Given the description of an element on the screen output the (x, y) to click on. 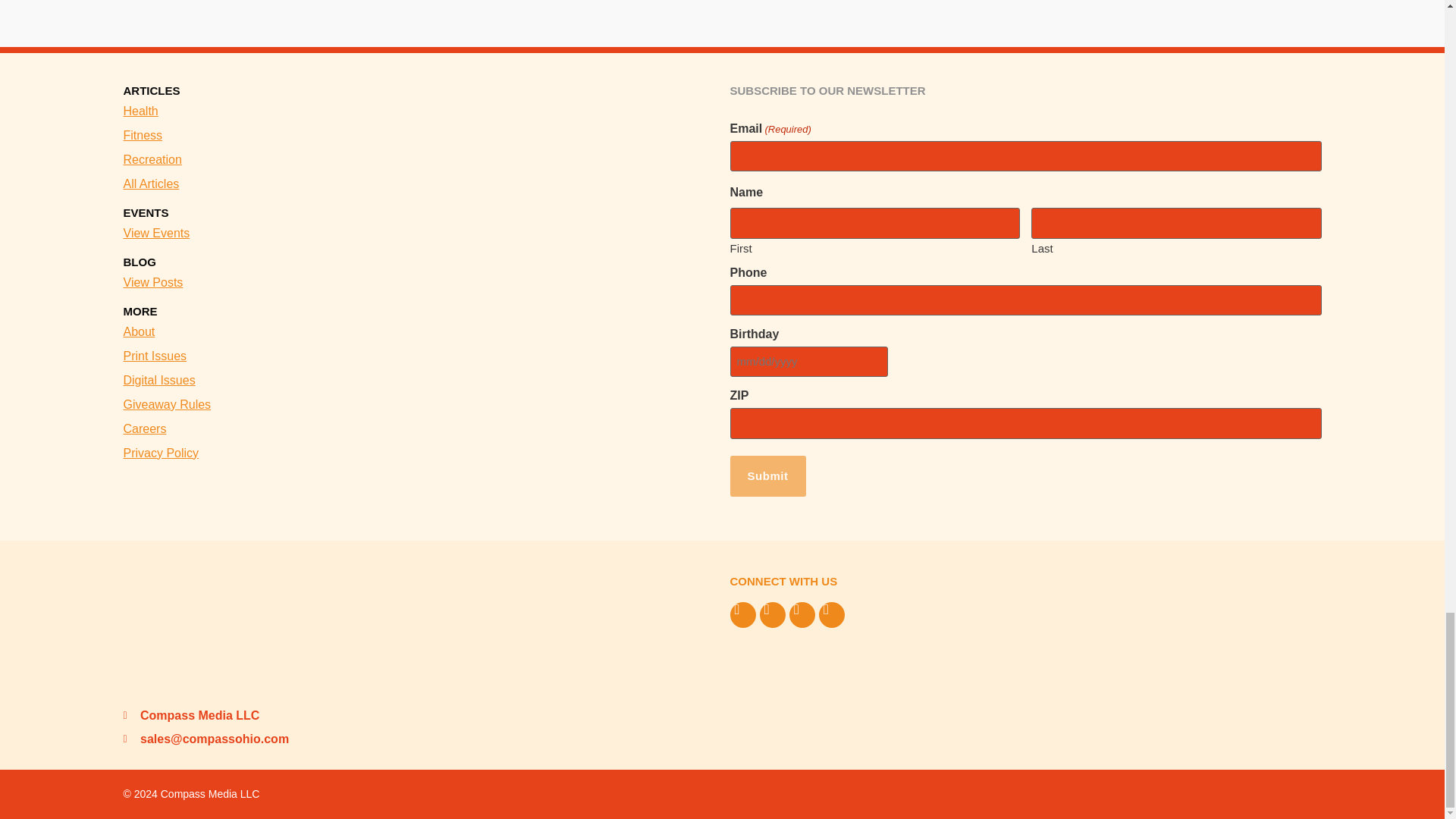
Submit (767, 476)
